Given the description of an element on the screen output the (x, y) to click on. 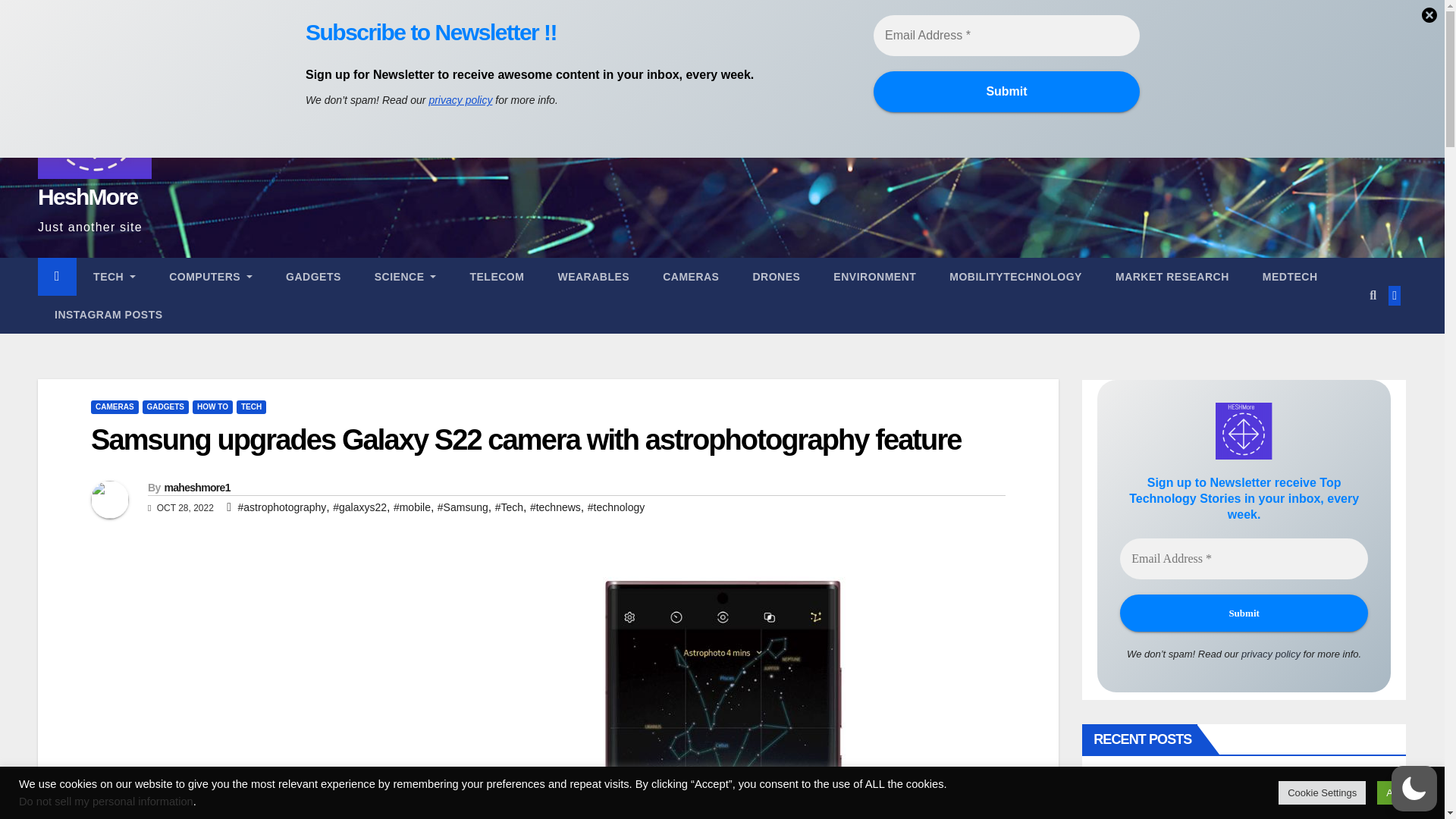
Telecom (496, 276)
TELECOM (496, 276)
Science (405, 276)
WEARABLES (593, 276)
Computers (210, 276)
TECH (114, 276)
MEDTECH (1290, 276)
DRONES (775, 276)
ENVIRONMENT (874, 276)
Gadgets (313, 276)
MOBILITYTECHNOLOGY (1016, 276)
MARKET RESEARCH (1172, 276)
COMPUTERS (210, 276)
INSTAGRAM POSTS (108, 314)
CAMERAS (690, 276)
